Given the description of an element on the screen output the (x, y) to click on. 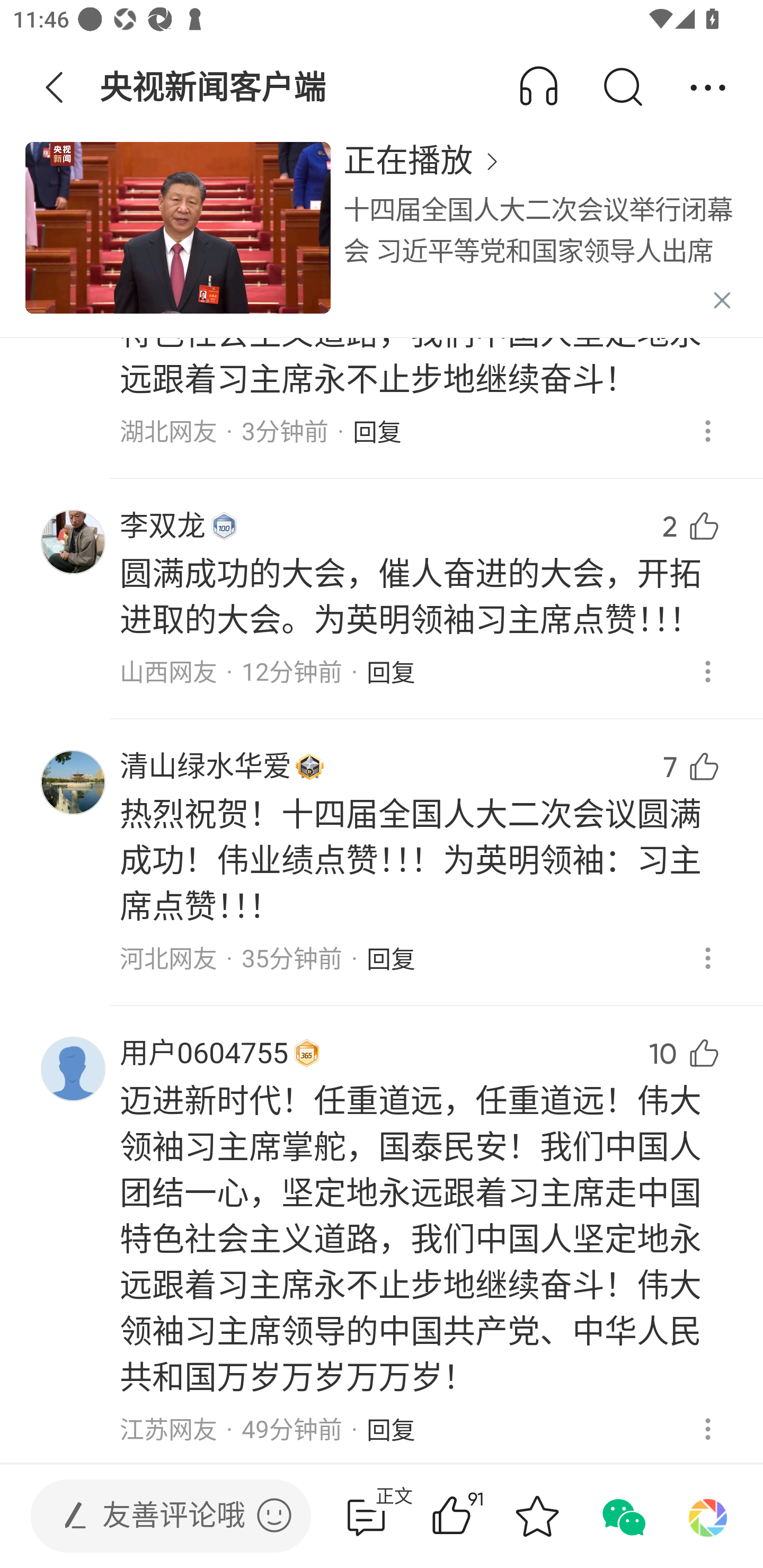
央视新闻客户端 (214, 87)
搜索  (622, 87)
分享  (707, 87)
 返回 (54, 87)
正在播放  十四届全国人大二次会议举行闭幕会 习近平等党和国家领导人出席 (381, 237)
正在播放  十四届全国人大二次会议举行闭幕会 习近平等党和国家领导人出席 (540, 237)
UserRightLabel_OneMedalView 勋章 (223, 525)
UserRightLabel_OneMedalView 勋章 (310, 766)
UserRightLabel_OneMedalView 勋章 (306, 1052)
发表评论  友善评论哦 发表评论  (155, 1516)
47评论  正文 正文 (365, 1516)
91赞 (476, 1516)
收藏  (536, 1516)
分享到微信  (622, 1516)
分享到朋友圈 (707, 1516)
 (274, 1515)
